Given the description of an element on the screen output the (x, y) to click on. 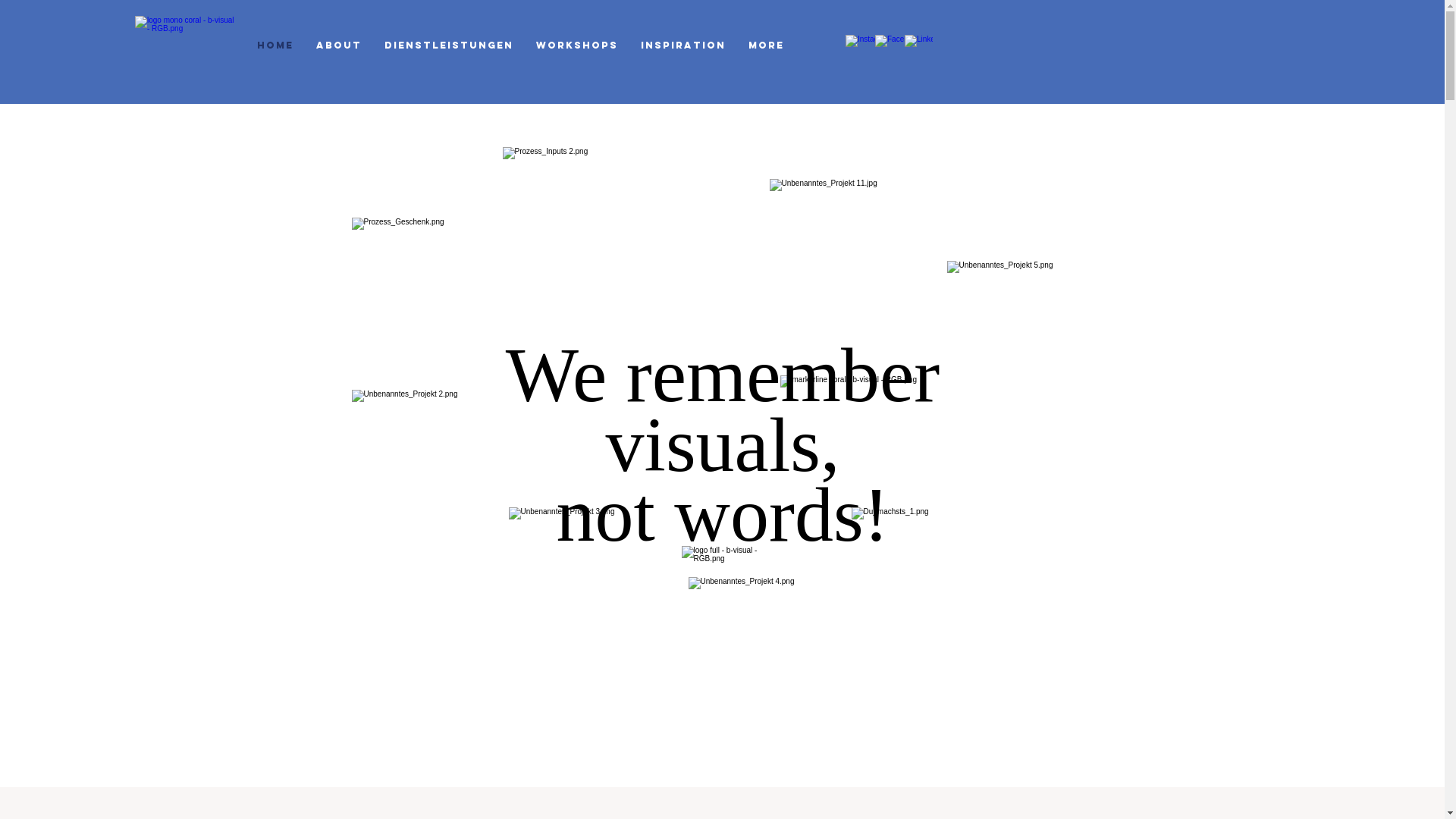
Inspiration Element type: text (683, 44)
Dienstleistungen Element type: text (448, 44)
About Element type: text (338, 44)
Workshops Element type: text (576, 44)
Home Element type: text (274, 44)
